Given the description of an element on the screen output the (x, y) to click on. 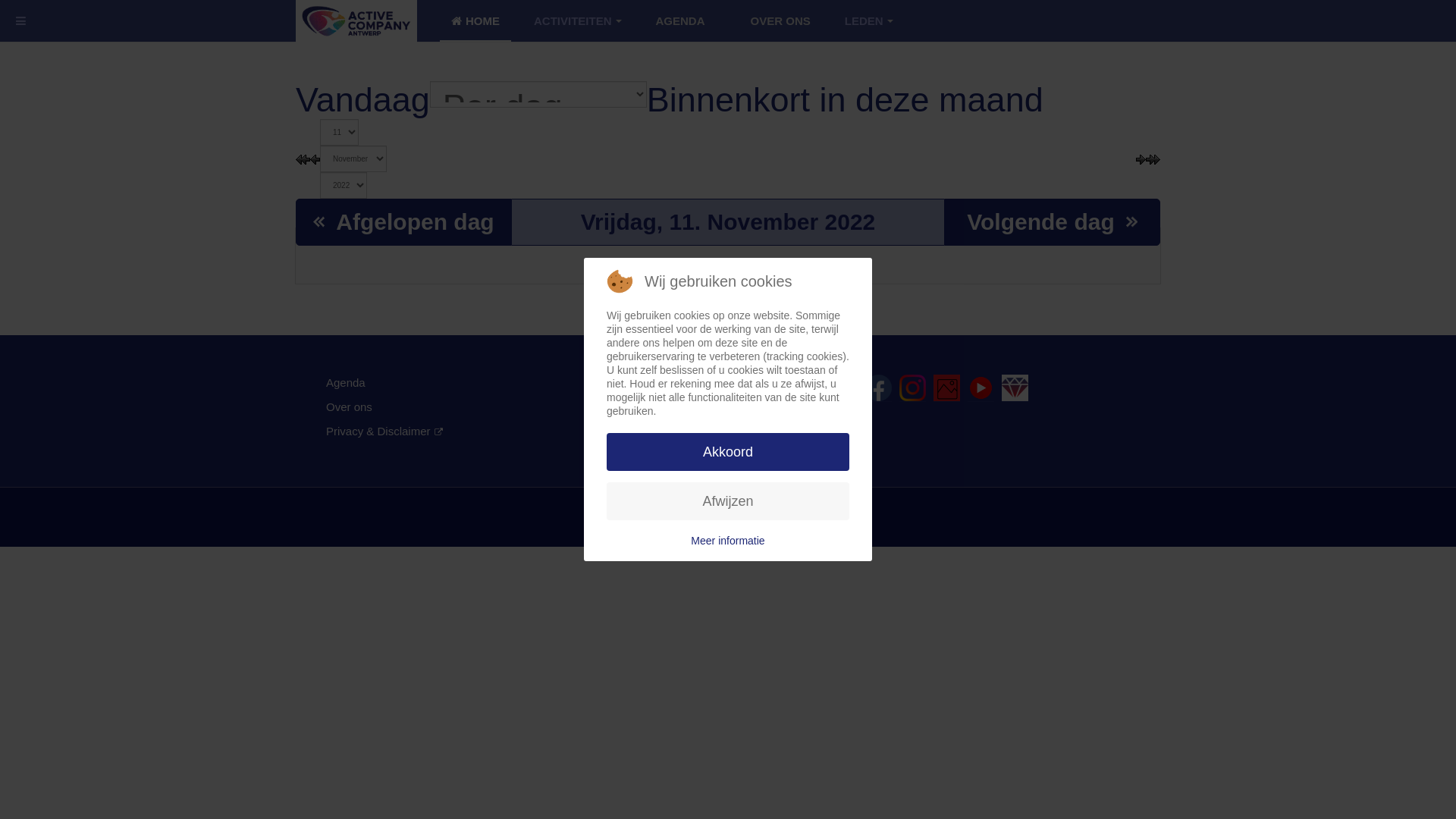
Privacy & Disclaimer Element type: text (384, 430)
HOME Element type: text (475, 20)
Volgende dag Element type: hover (1140, 157)
Akkoord Element type: text (727, 451)
Active Company Antwerp Element type: hover (356, 20)
ABG Element type: hover (1014, 387)
Agenda Element type: text (345, 382)
Volgende maand Element type: hover (1152, 157)
Facebook Element type: hover (878, 387)
Volgende dag Element type: text (1051, 221)
Meer informatie Element type: text (727, 540)
Over ons Element type: text (349, 406)
OVER ONS Element type: text (780, 20)
Pictures Element type: hover (946, 387)
Afgelopen dag Element type: text (403, 221)
AGENDA Element type: text (680, 20)
Vorige dag Element type: hover (315, 157)
Instagram Element type: hover (912, 387)
Afwijzen Element type: text (727, 501)
Vorige maand Element type: hover (302, 157)
Vandaag Element type: text (362, 99)
Binnenkort in deze maand Element type: text (844, 99)
Video Element type: hover (980, 387)
